Given the description of an element on the screen output the (x, y) to click on. 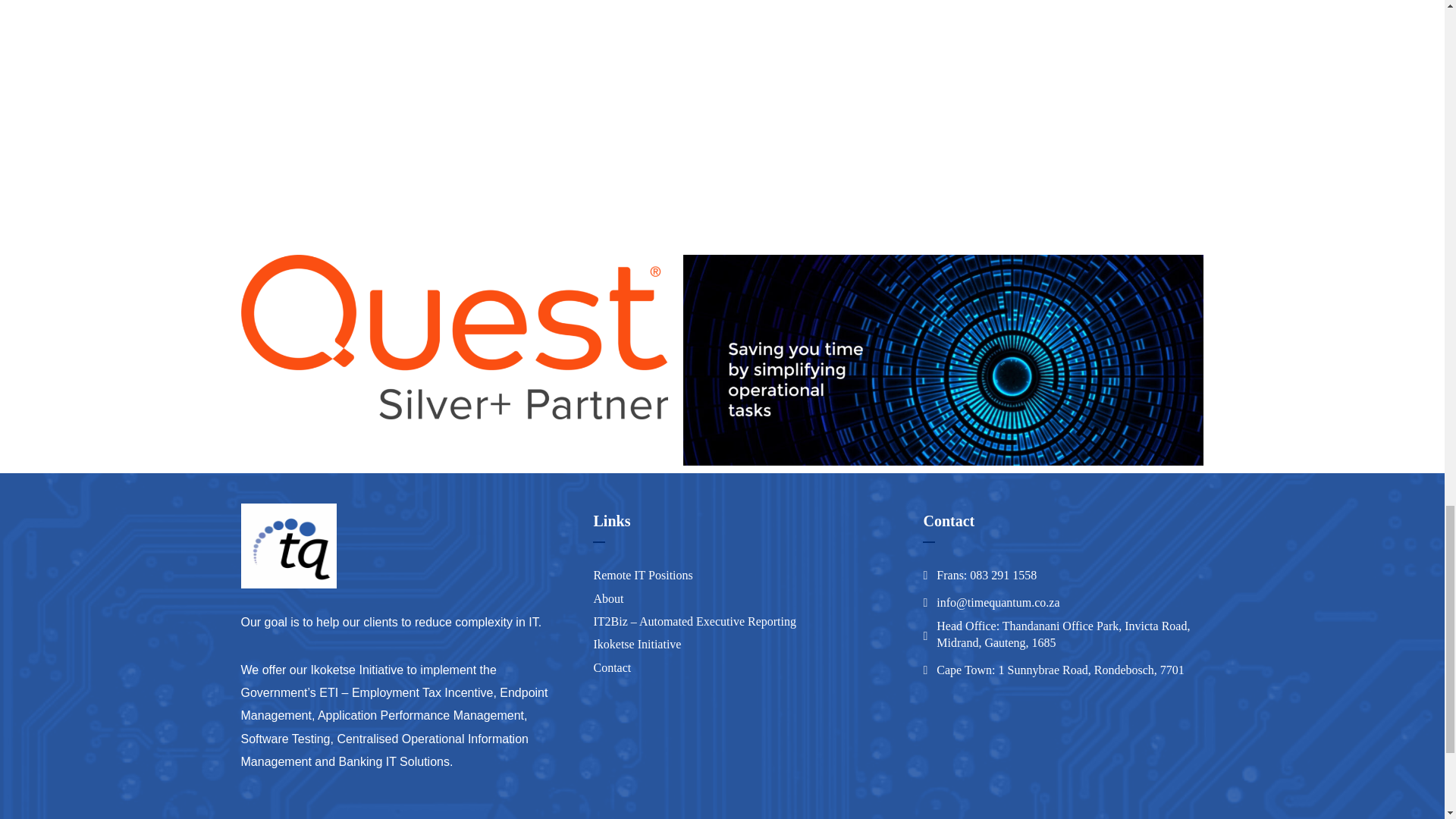
address (997, 602)
Cape Town: 1 Sunnybrae Road, Rondebosch, 7701 (1060, 669)
address (986, 575)
